Given the description of an element on the screen output the (x, y) to click on. 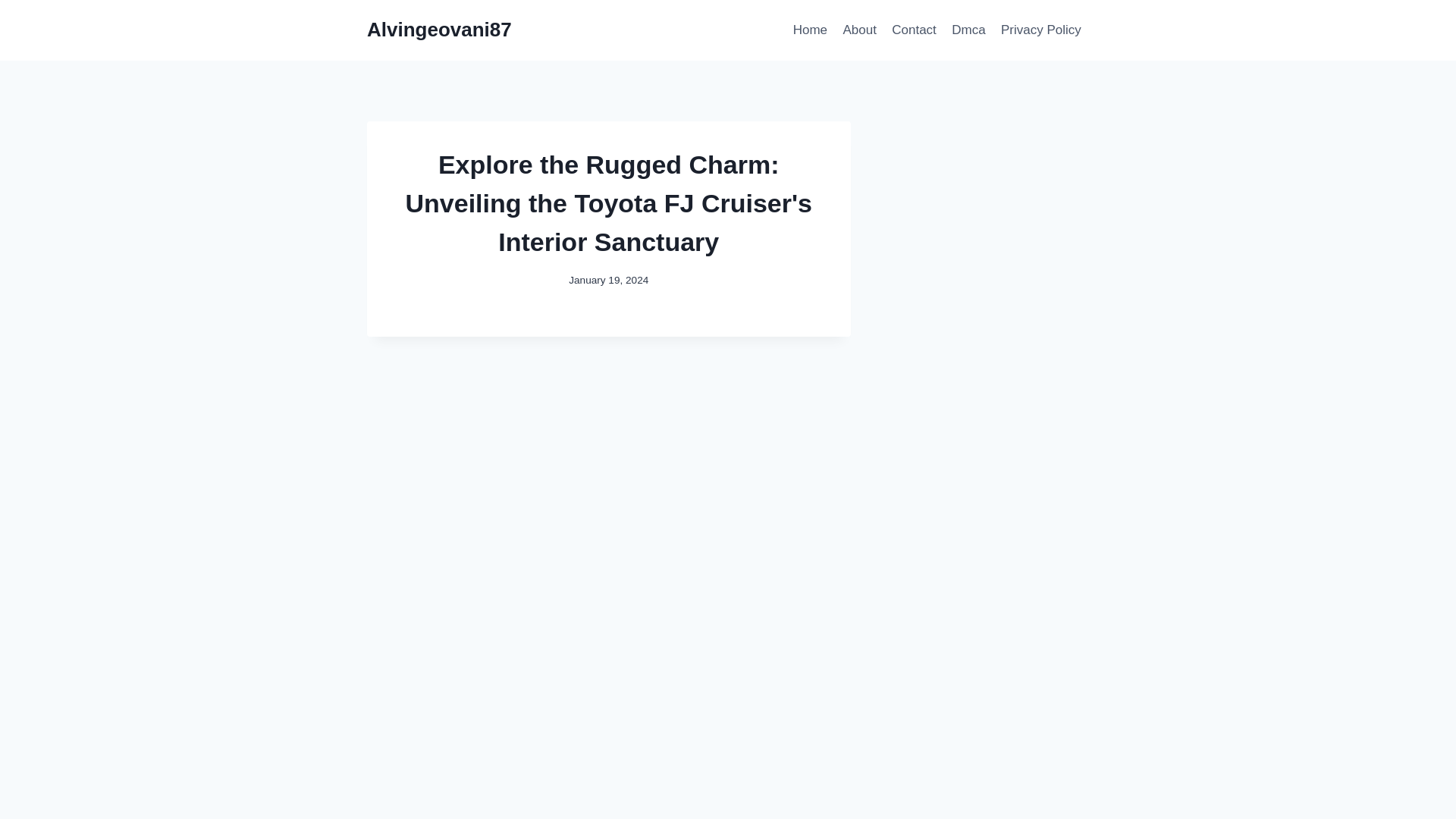
About (858, 30)
Alvingeovani87 (439, 29)
Dmca (967, 30)
Privacy Policy (1040, 30)
Home (810, 30)
Contact (913, 30)
